Given the description of an element on the screen output the (x, y) to click on. 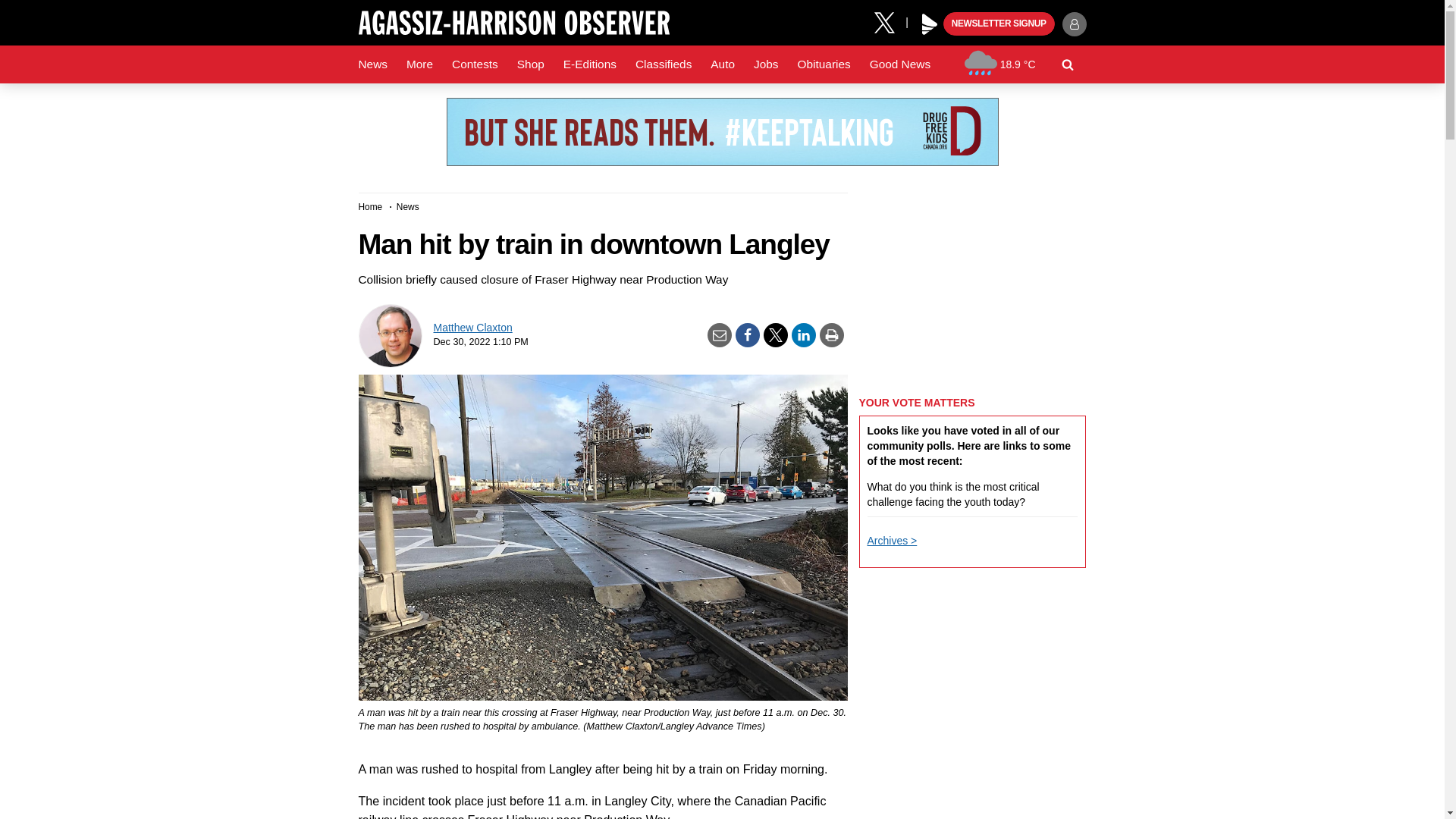
News (372, 64)
Black Press Media (929, 24)
X (889, 21)
Play (929, 24)
3rd party ad content (721, 131)
NEWSLETTER SIGNUP (998, 24)
